Given the description of an element on the screen output the (x, y) to click on. 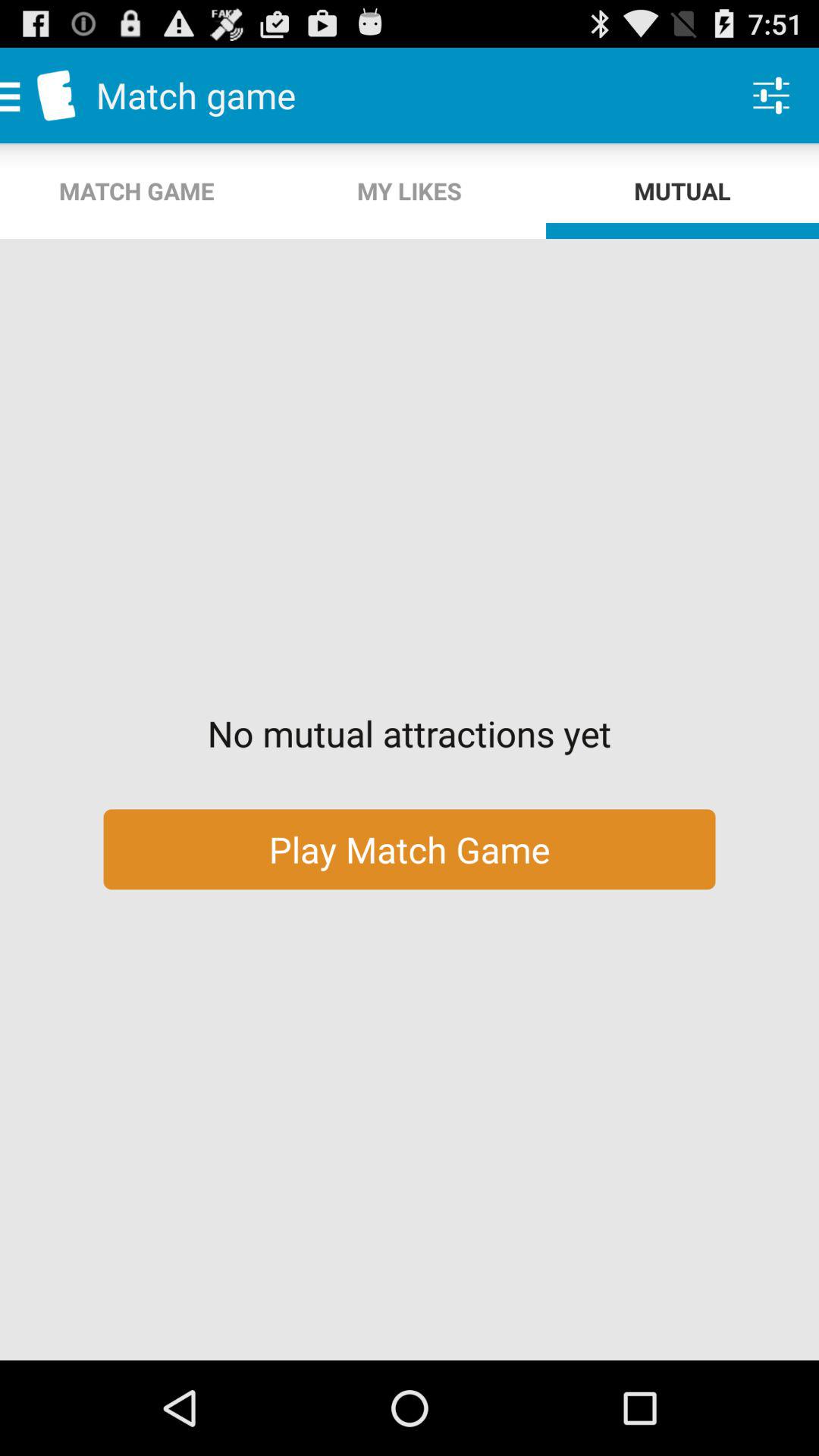
click app at the top (409, 190)
